Given the description of an element on the screen output the (x, y) to click on. 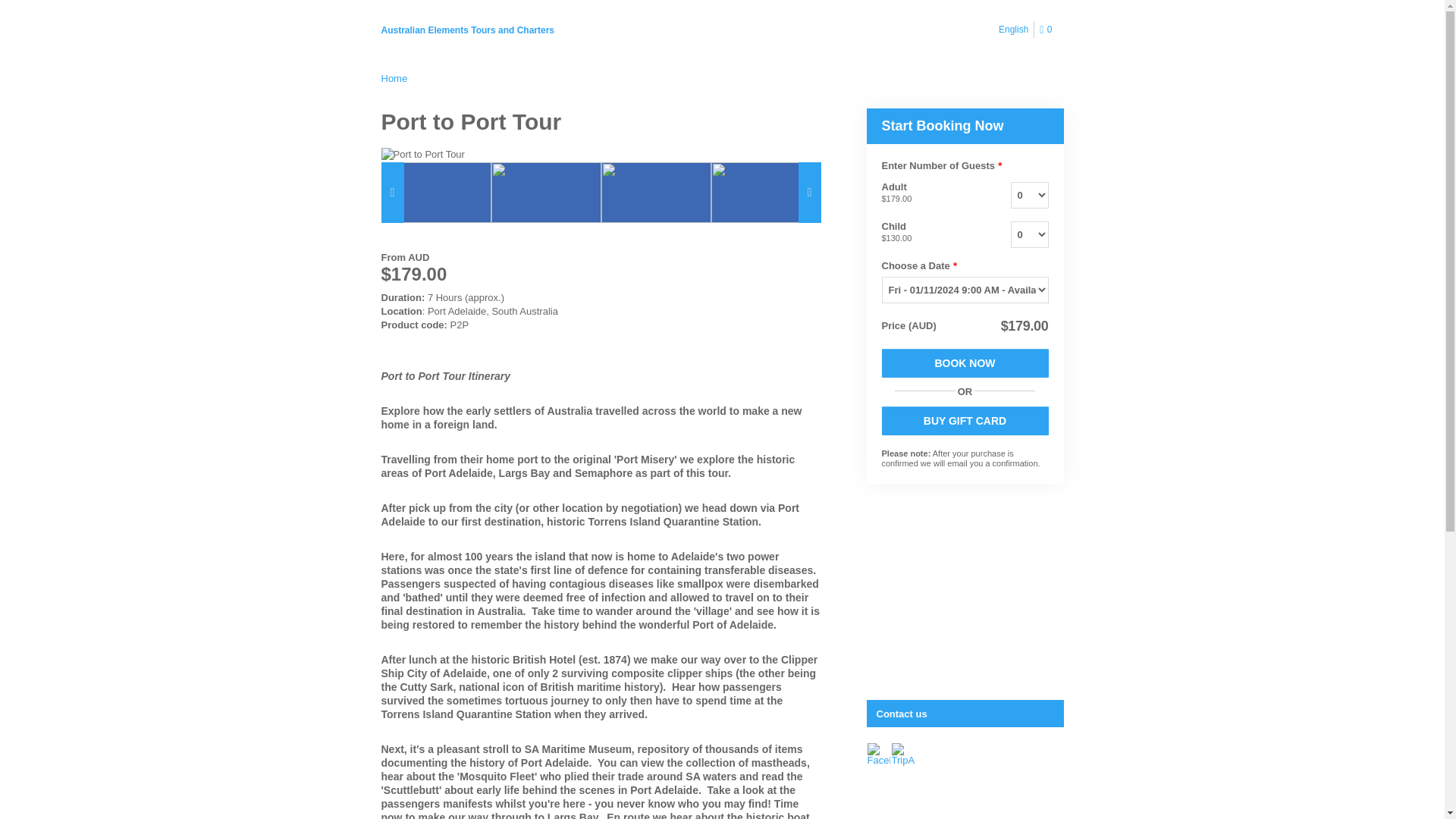
English (1012, 29)
BOOK NOW (964, 362)
BUY GIFT CARD (964, 420)
0 (1047, 30)
Contact us (965, 713)
Australian Elements Tours and Charters (467, 30)
Home (393, 78)
